Given the description of an element on the screen output the (x, y) to click on. 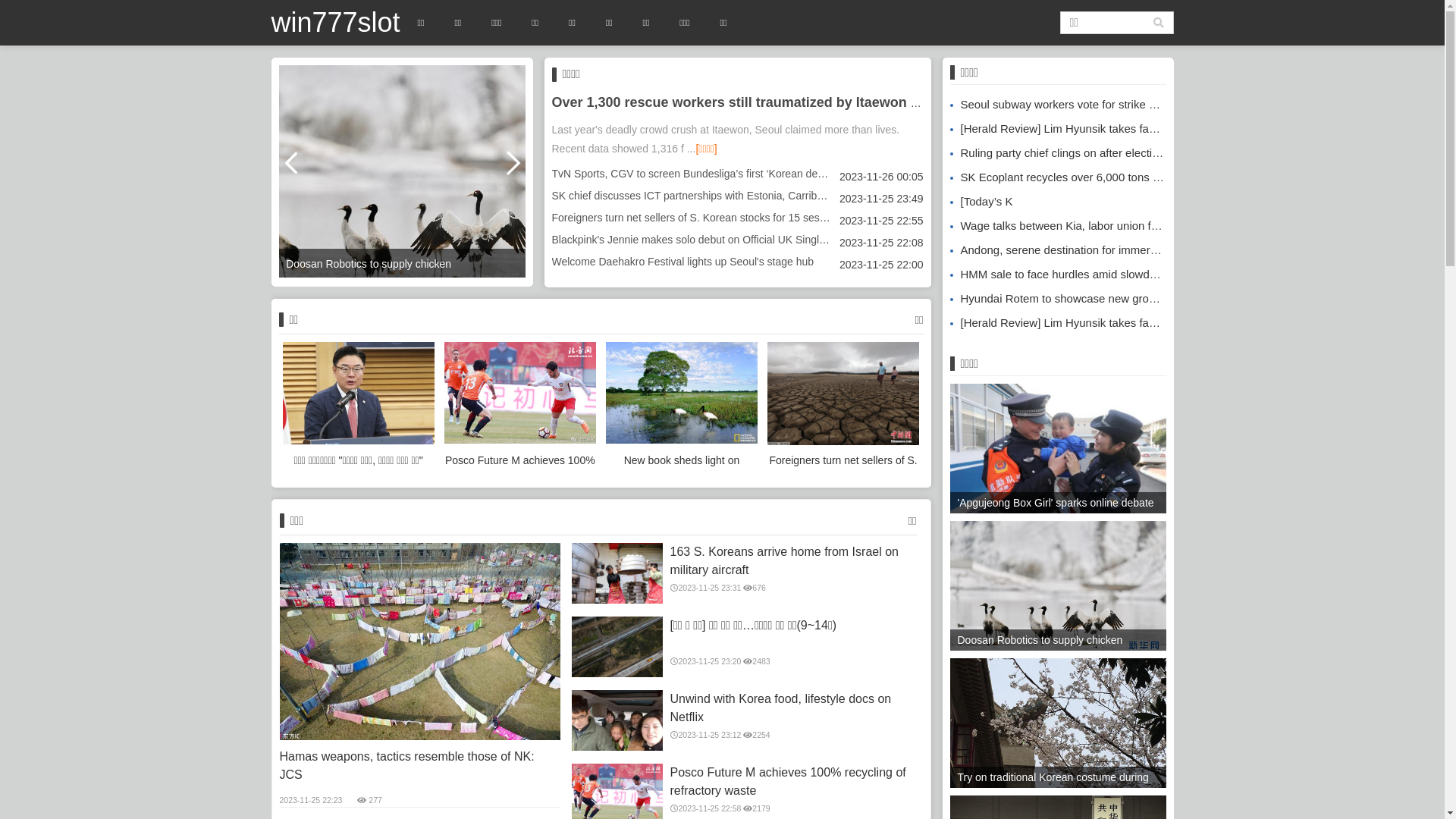
Wage talks between Kia, labor union fail again Element type: text (1070, 225)
Welcome Daehakro Festival lights up Seoul's stage hub Element type: text (683, 261)
Hamas weapons, tactics resemble those of NK: JCS Element type: hover (419, 641)
Doosan Robotics to supply chicken Element type: hover (1057, 590)
163 S. Koreans arrive home from Israel on military aircraft Element type: text (795, 560)
Andong, serene destination for immersing in traditions Element type: text (1090, 249)
Posco Future M achieves 100% recycling of refractory waste Element type: text (520, 407)
HMM sale to face hurdles amid slowdown in shipping industry Element type: text (1109, 273)
Unwind with Korea food, lifestyle docs on Netflix Element type: text (795, 708)
Posco Future M achieves 100% recycling of refractory waste Element type: text (795, 781)
Ruling party chief clings on after election loss Element type: text (1068, 152)
Seoul subway workers vote for strike plan Element type: text (1059, 103)
Hamas weapons, tactics resemble those of NK: JCS Element type: text (419, 765)
SK Ecoplant recycles over 6,000 tons of batteries Element type: text (1078, 176)
win777slot Element type: text (335, 21)
163 S. Koreans arrive home from Israel on military aircraft Element type: hover (616, 572)
'Apgujeong Box Girl' sparks online debate Element type: hover (1057, 455)
Unwind with Korea food, lifestyle docs on Netflix Element type: hover (616, 720)
